Given the description of an element on the screen output the (x, y) to click on. 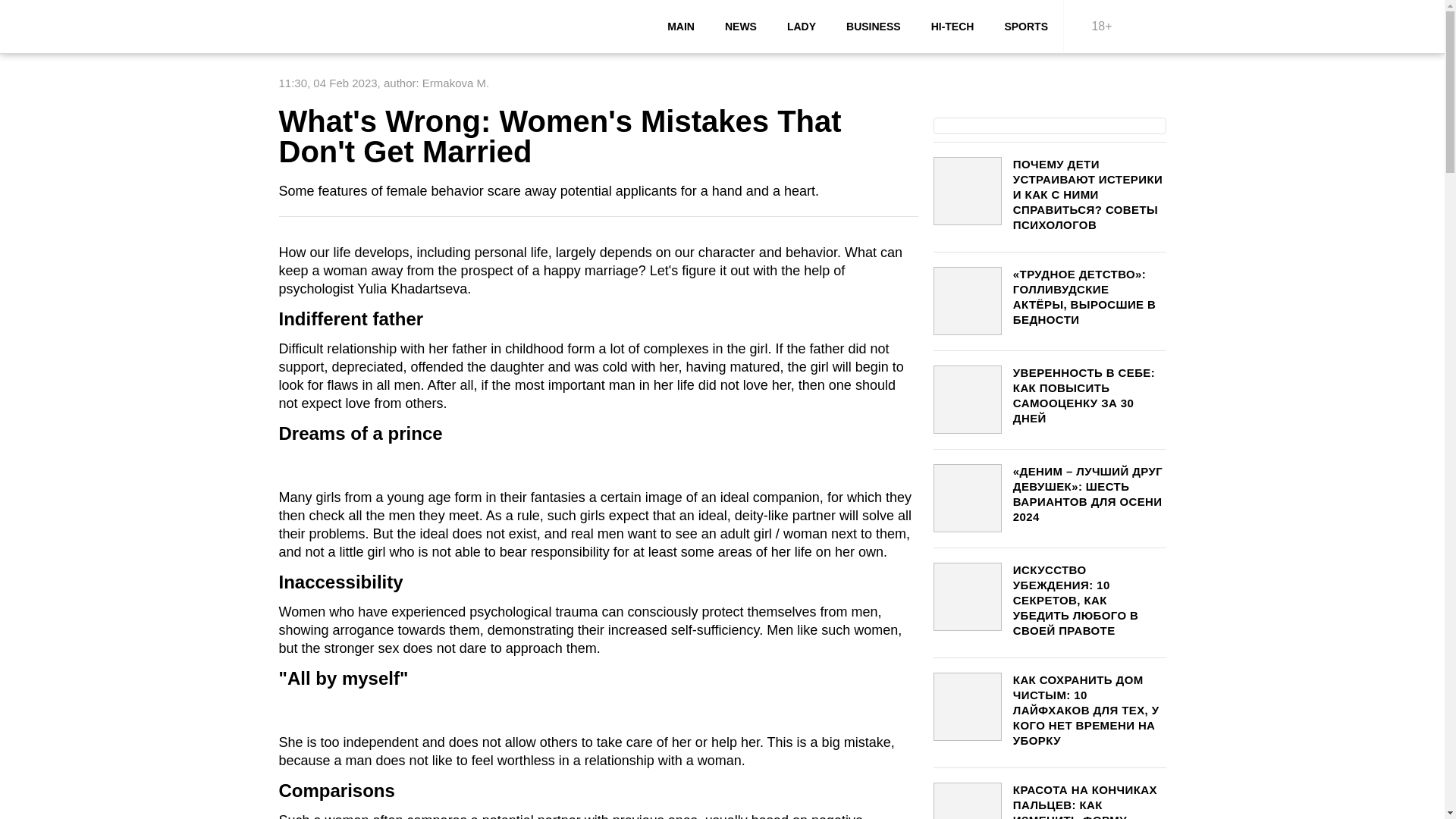
LADY (801, 26)
BUSINESS (873, 26)
SPORTS (1025, 26)
NEWS (740, 26)
HI-TECH (952, 26)
MAIN (681, 26)
